Given the description of an element on the screen output the (x, y) to click on. 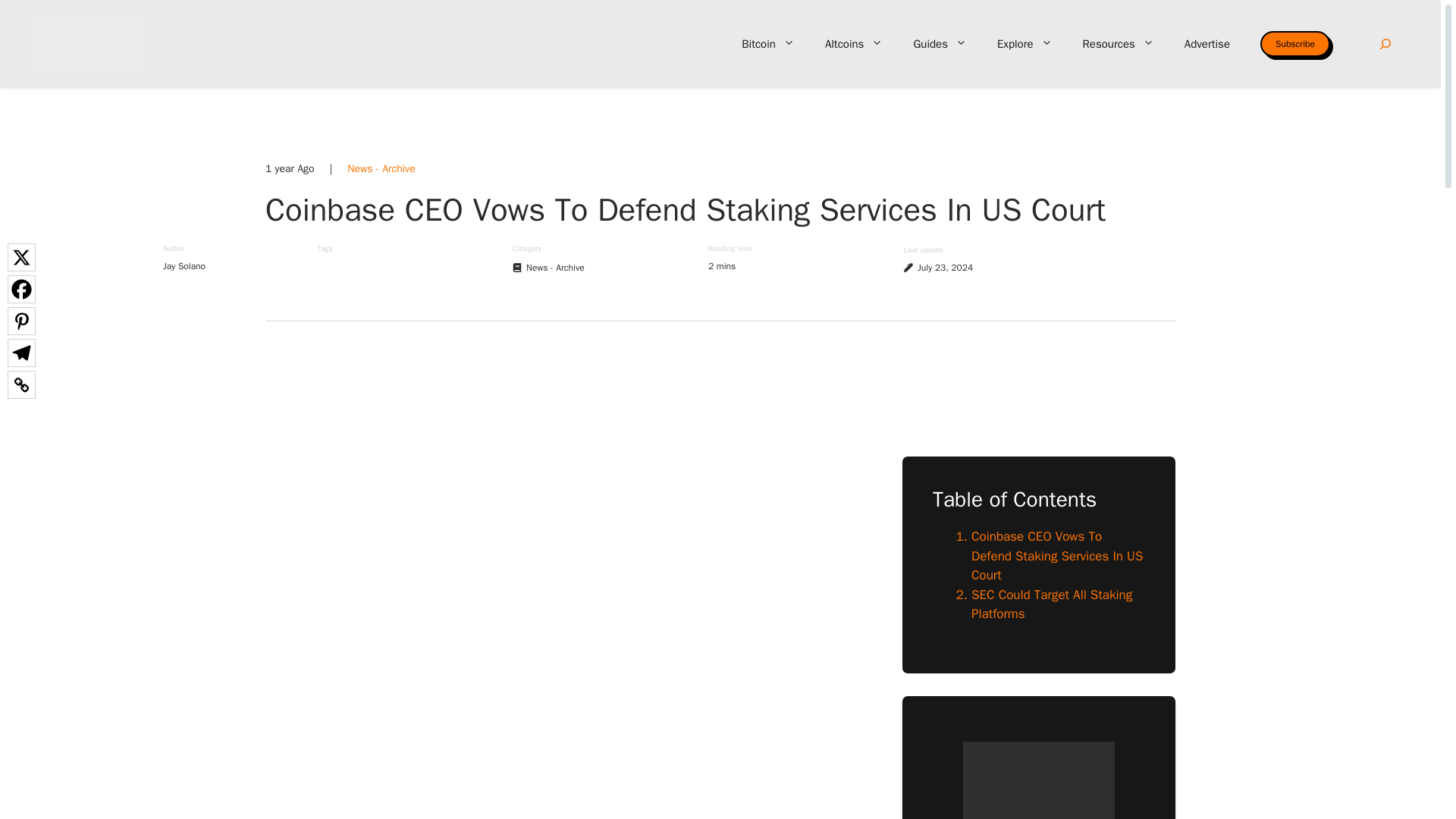
Guides (939, 43)
Bitcoin (767, 43)
cryptohopper banner ads (719, 386)
Altcoins (853, 43)
Explore (1024, 43)
